Given the description of an element on the screen output the (x, y) to click on. 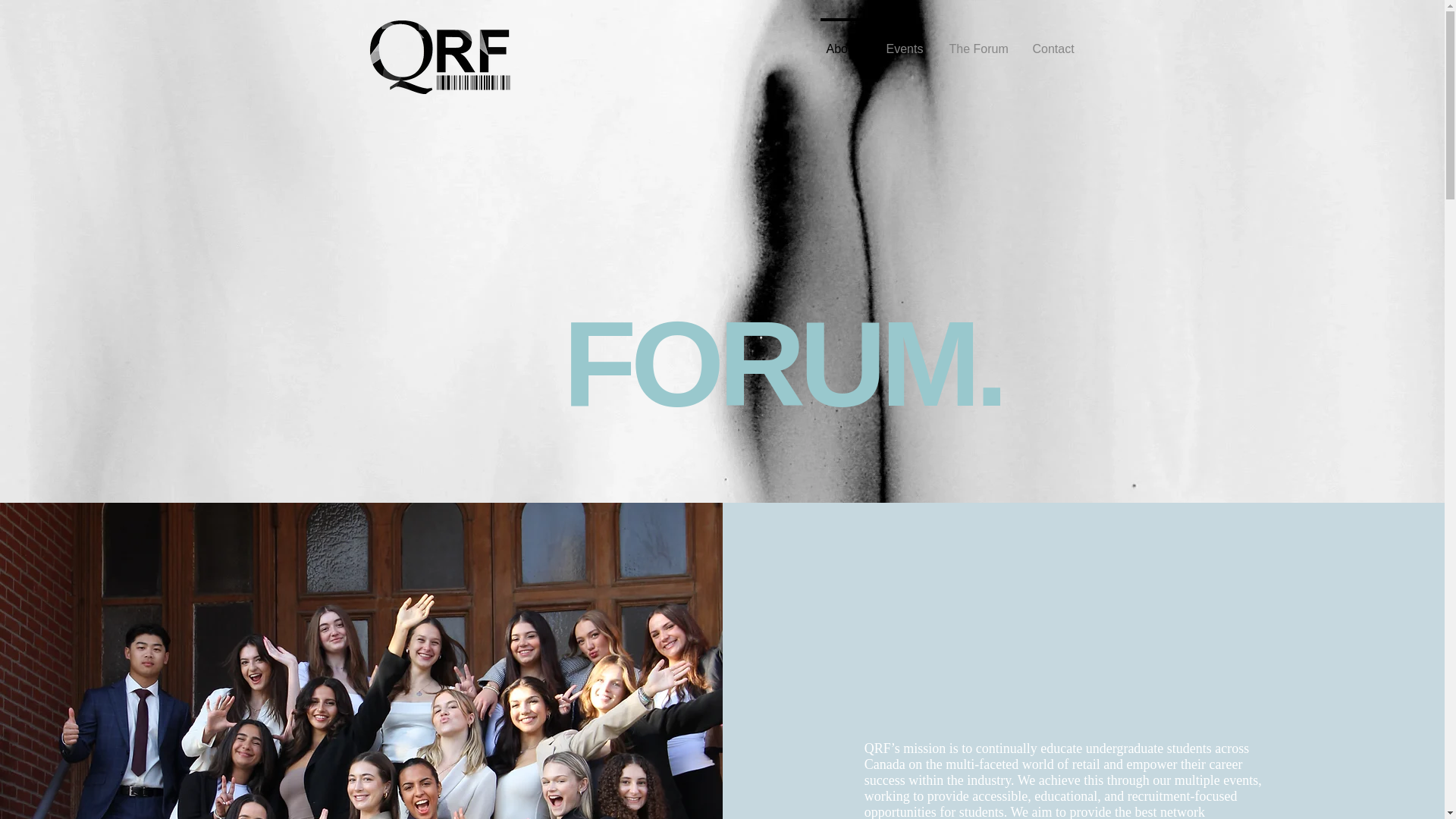
Contact (1054, 42)
About (842, 42)
Events (903, 42)
The Forum (977, 42)
